Given the description of an element on the screen output the (x, y) to click on. 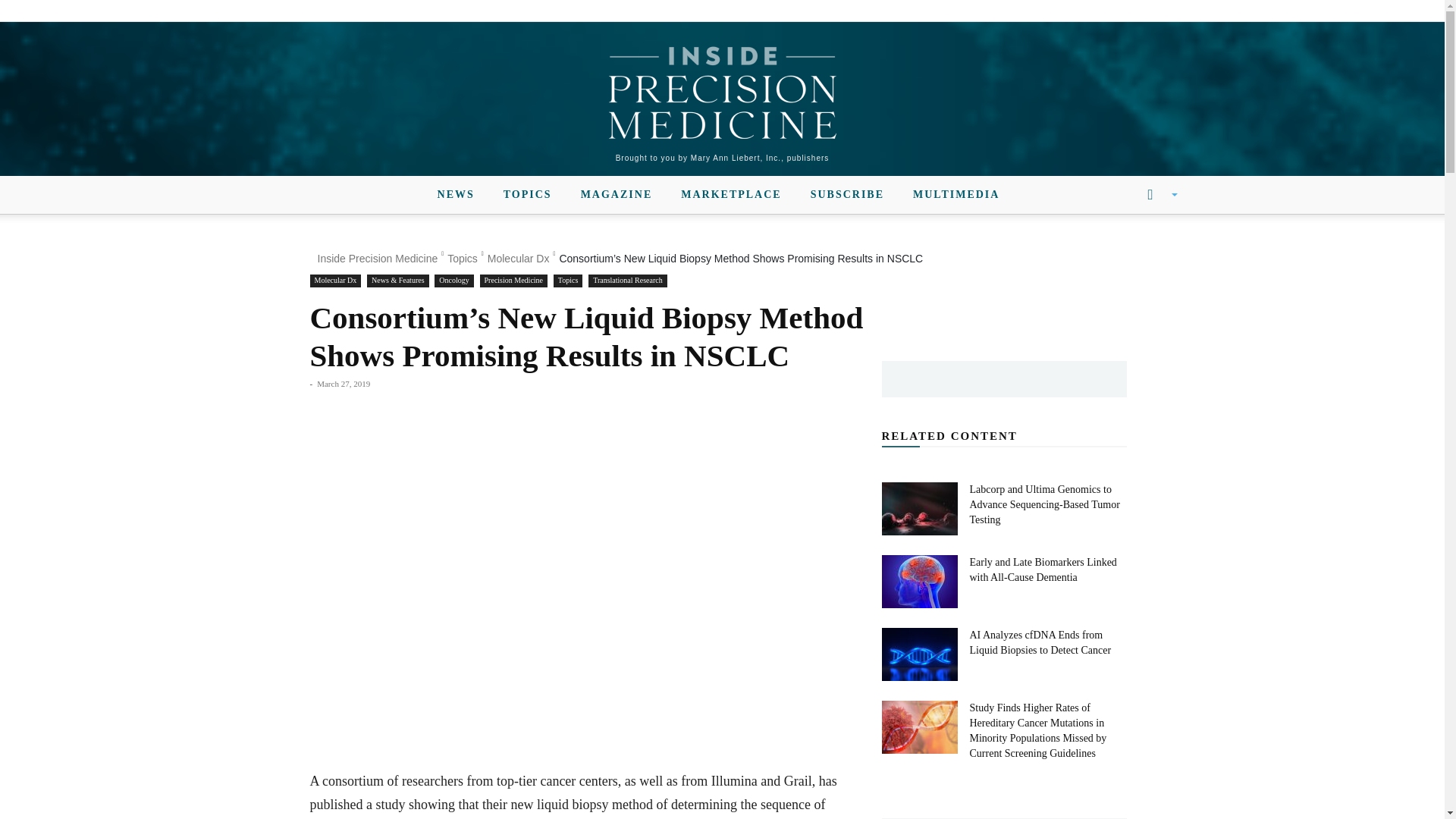
Facebook (277, 10)
Linkedin (303, 10)
Twitter (328, 10)
Inside Precision Medicine (721, 92)
Update Preferences (1142, 10)
